Given the description of an element on the screen output the (x, y) to click on. 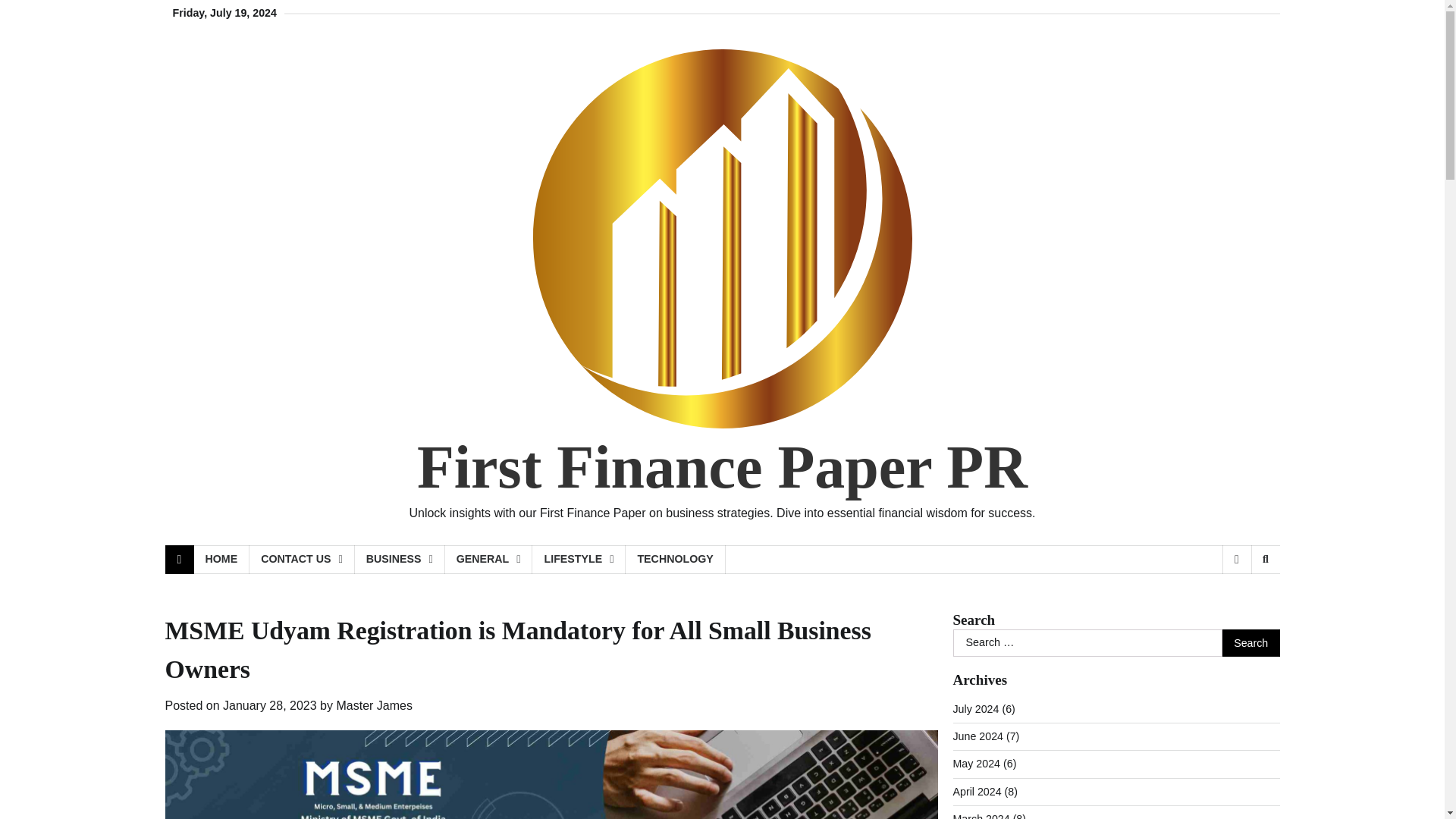
CONTACT US (300, 559)
HOME (221, 559)
Search (1240, 598)
TECHNOLOGY (675, 559)
Search (1251, 642)
LIFESTYLE (579, 559)
First Finance Paper PR (721, 467)
Master James (374, 705)
Search (1264, 559)
Search (1251, 642)
January 28, 2023 (269, 705)
View Random Post (1236, 559)
GENERAL (488, 559)
BUSINESS (400, 559)
